Given the description of an element on the screen output the (x, y) to click on. 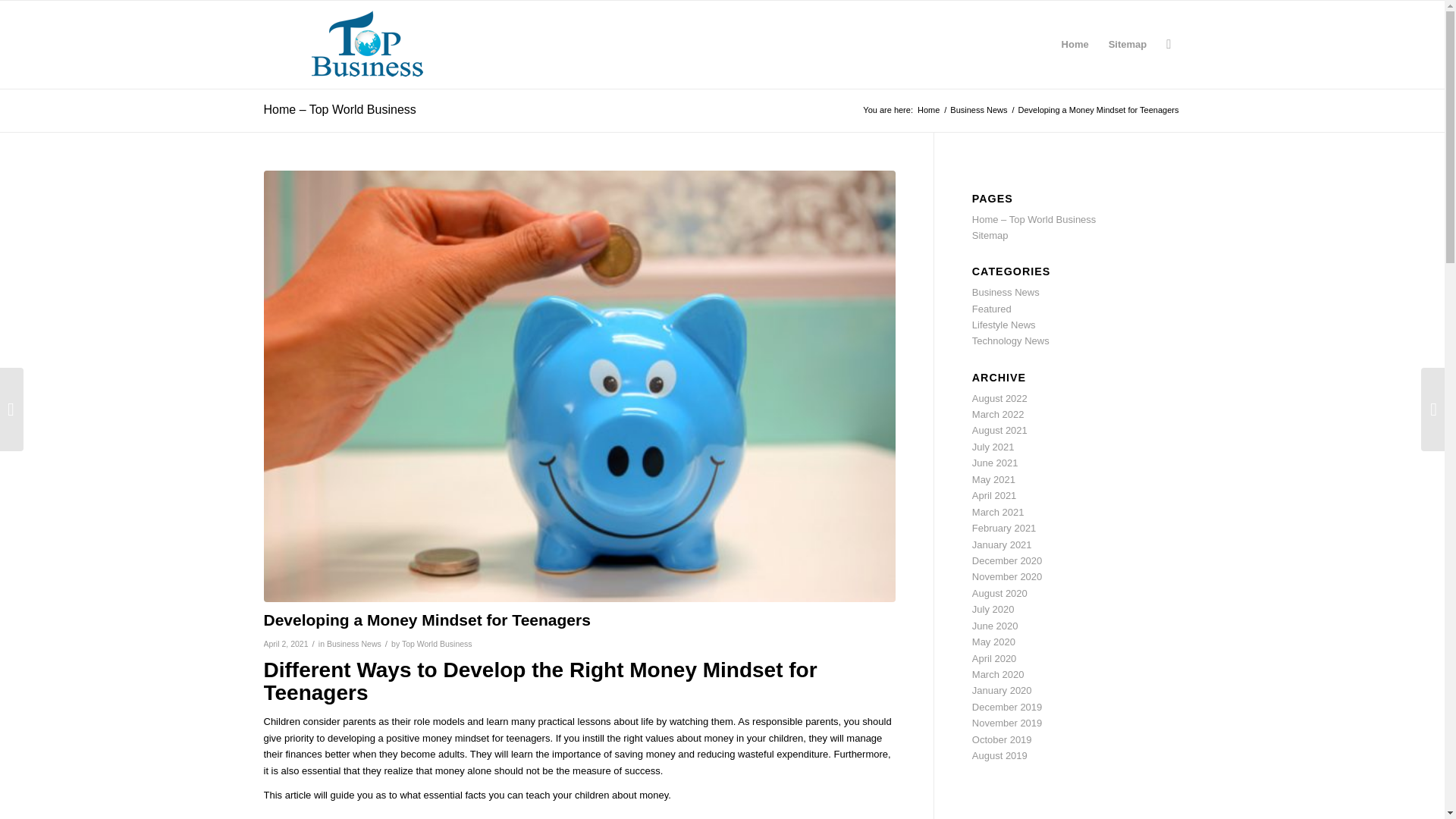
Home (928, 110)
Technology News (1010, 340)
Business News (1005, 292)
November 2020 (1007, 576)
August 2021 (999, 430)
Business News (978, 110)
Sitemap (1128, 44)
April 2021 (994, 495)
June 2020 (994, 625)
December 2020 (1007, 560)
Posts by Top World Business (436, 643)
January 2021 (1002, 544)
March 2021 (998, 511)
February 2021 (1004, 527)
